Given the description of an element on the screen output the (x, y) to click on. 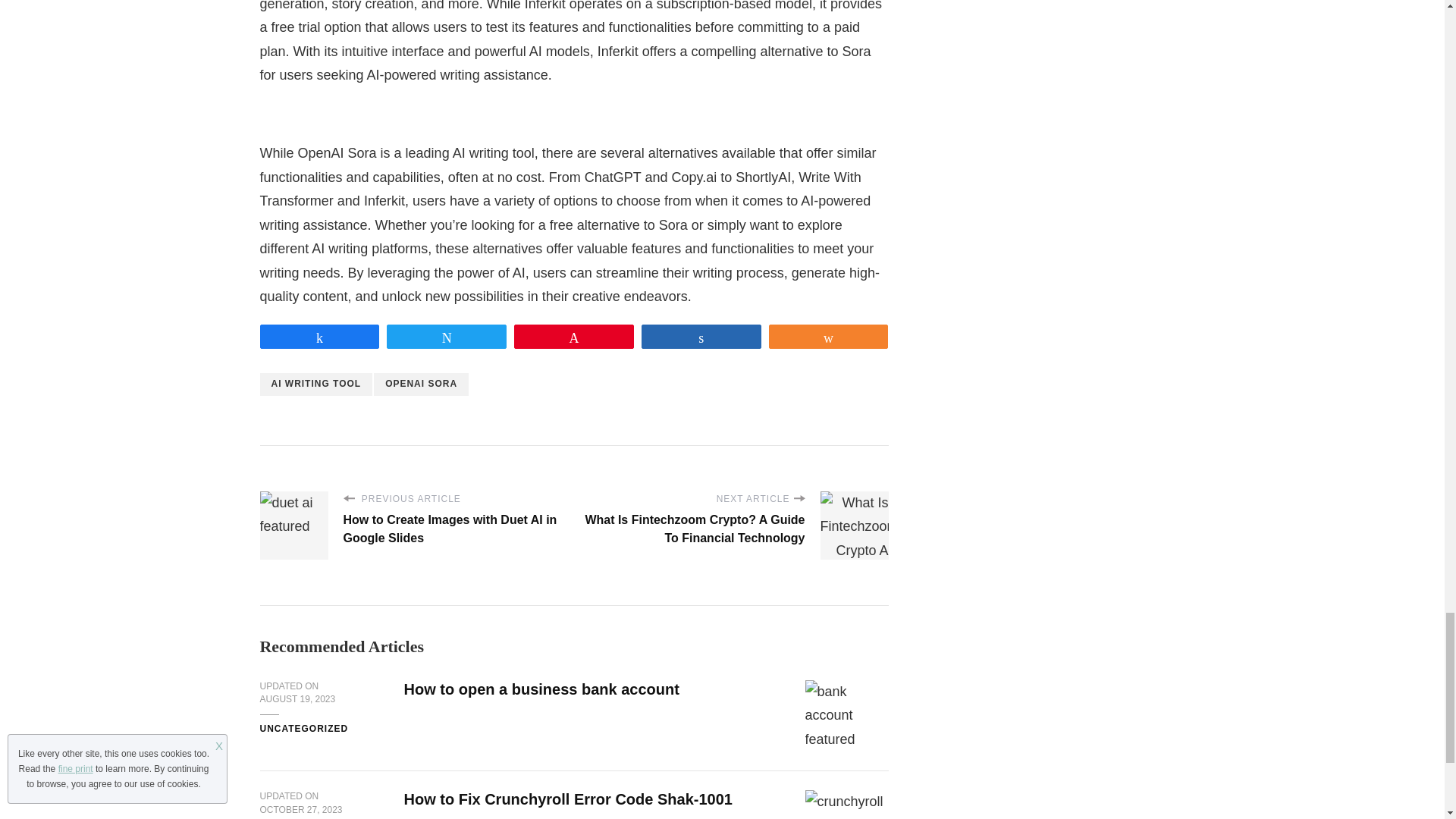
How to open a business bank account (540, 688)
UNCATEGORIZED (303, 729)
AI WRITING TOOL (315, 384)
AUGUST 19, 2023 (296, 699)
OPENAI SORA (421, 384)
OCTOBER 27, 2023 (300, 810)
How to Fix Crunchyroll Error Code Shak-1001 (567, 799)
